Given the description of an element on the screen output the (x, y) to click on. 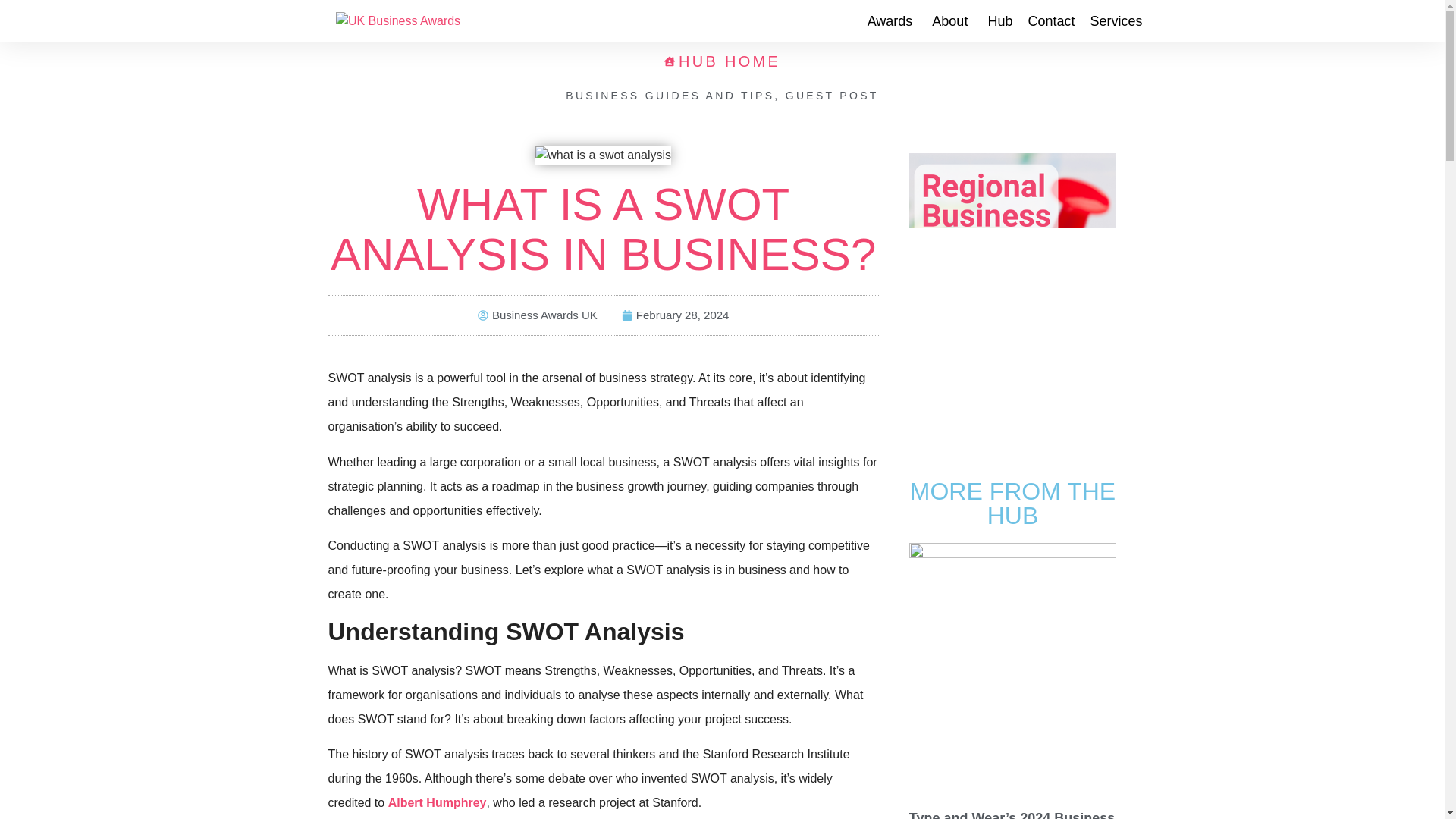
Awards (892, 20)
GUEST POST (832, 95)
About (951, 20)
Hub (999, 20)
Contact (1050, 20)
Business Awards UK (536, 315)
What is a SWOT Analysis (603, 155)
HUB HOME (721, 60)
UK Business Awards (398, 21)
Services (1117, 20)
BUSINESS GUIDES AND TIPS (670, 95)
Albert Humphrey (437, 802)
February 28, 2024 (675, 315)
